Given the description of an element on the screen output the (x, y) to click on. 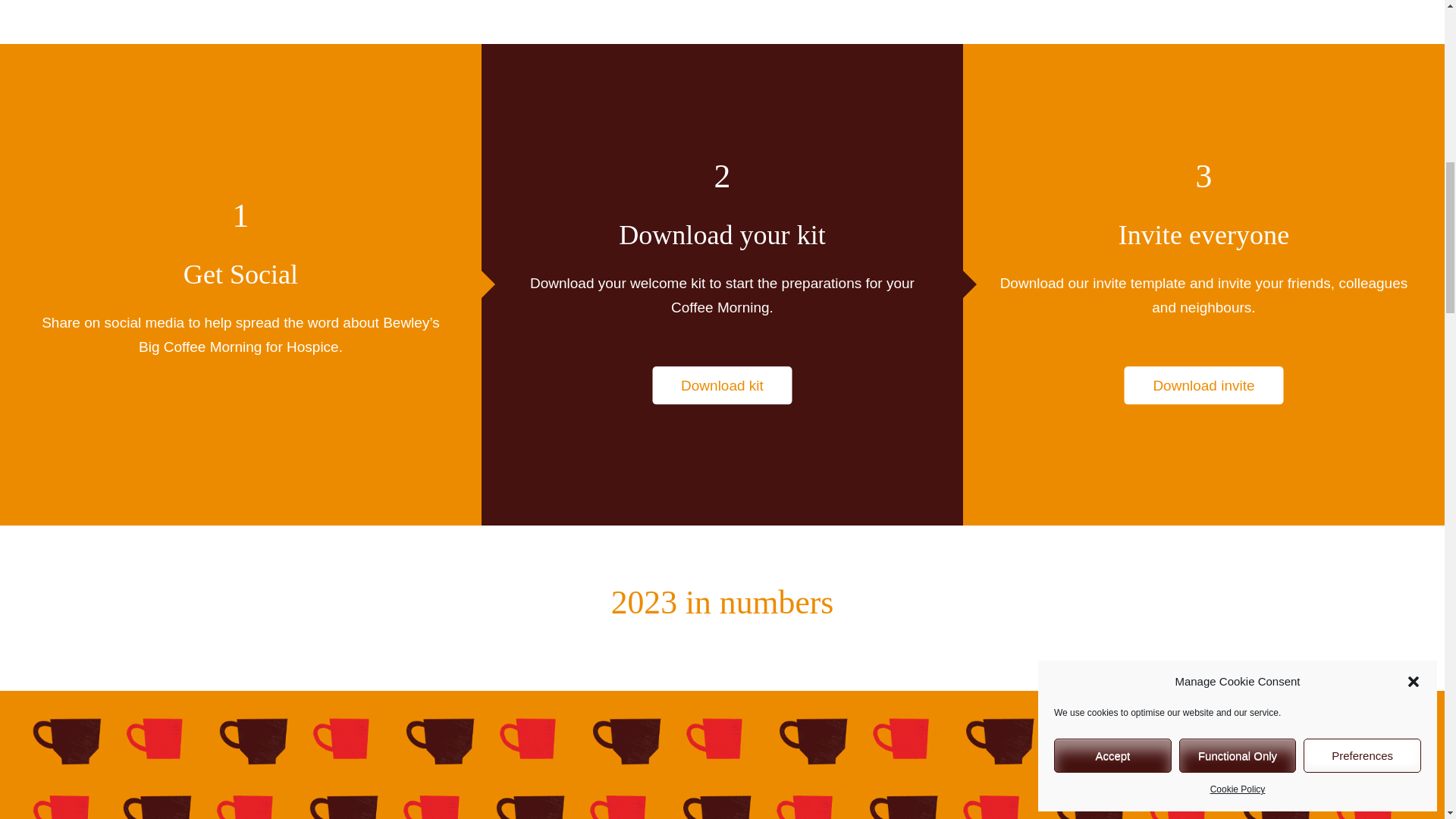
Download kit (722, 385)
Download invite (1203, 385)
